Given the description of an element on the screen output the (x, y) to click on. 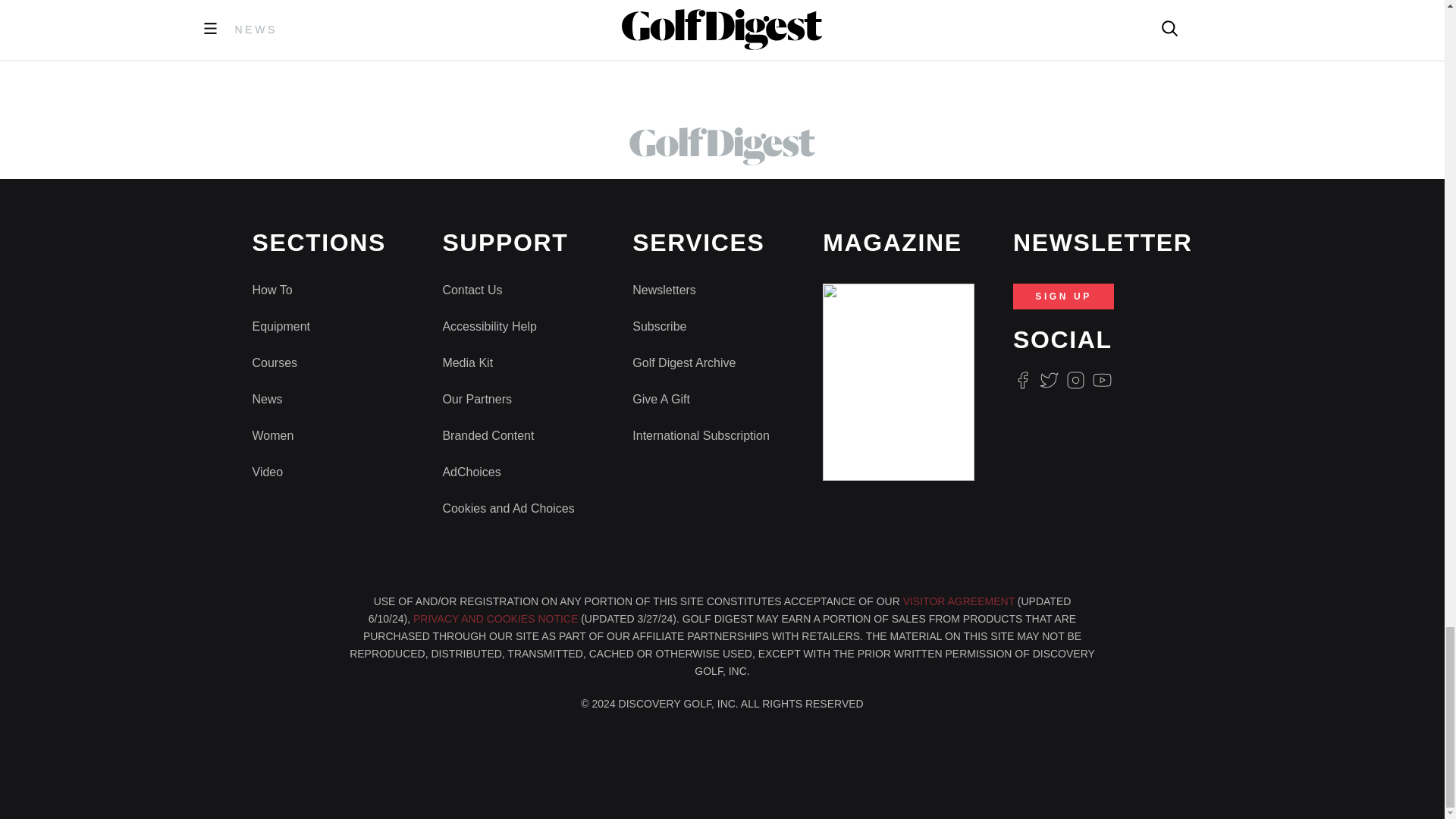
Youtube Icon (1102, 380)
Twitter Logo (1048, 380)
Facebook Logo (1022, 380)
Instagram Logo (1074, 380)
